Given the description of an element on the screen output the (x, y) to click on. 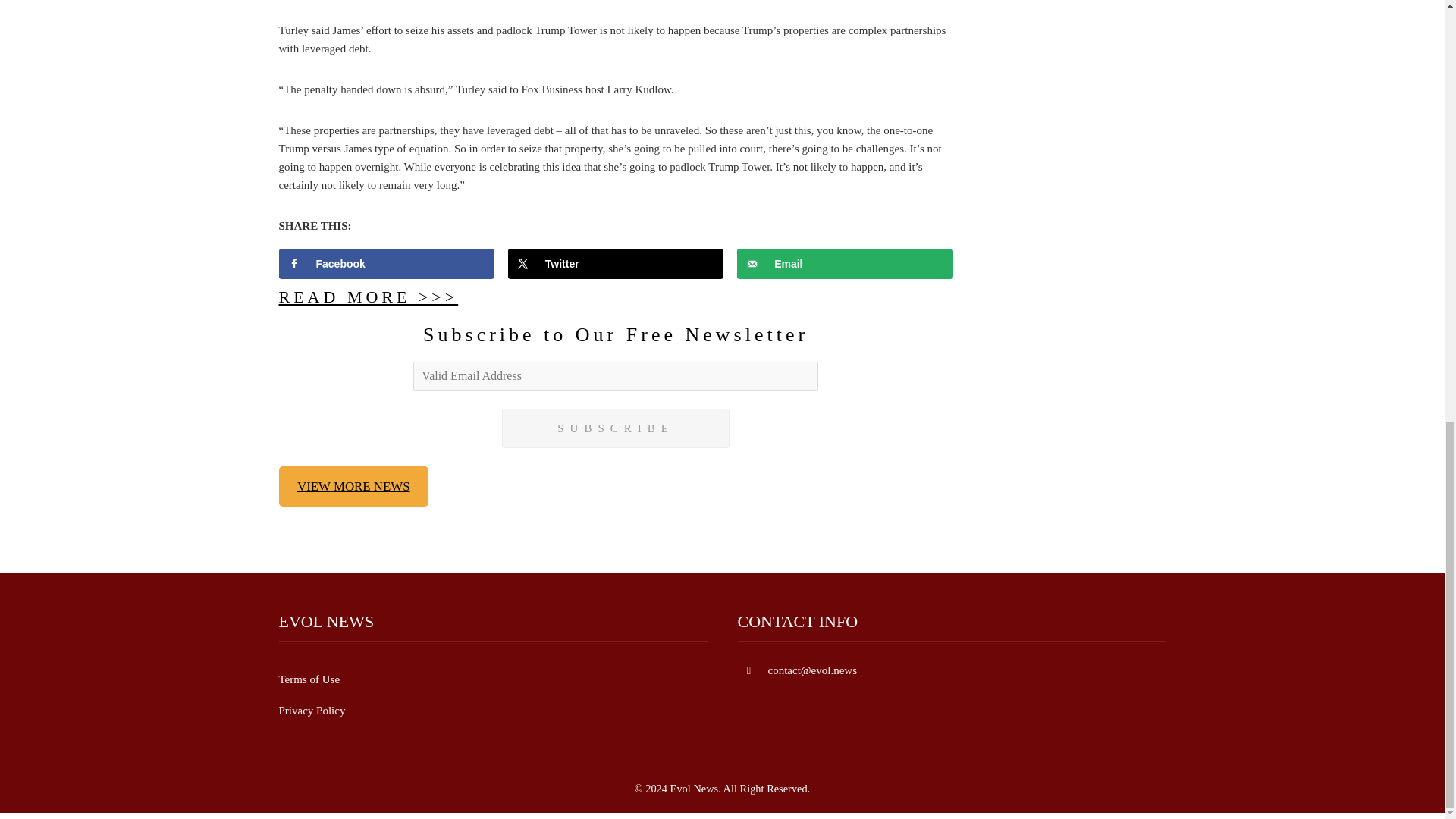
Share on Facebook (387, 263)
Privacy Policy (312, 710)
Email (844, 263)
Send over email (844, 263)
VIEW MORE NEWS (354, 486)
Share on X (615, 263)
Twitter (615, 263)
SUBSCRIBE (615, 427)
Terms of Use (309, 679)
Facebook (387, 263)
